Given the description of an element on the screen output the (x, y) to click on. 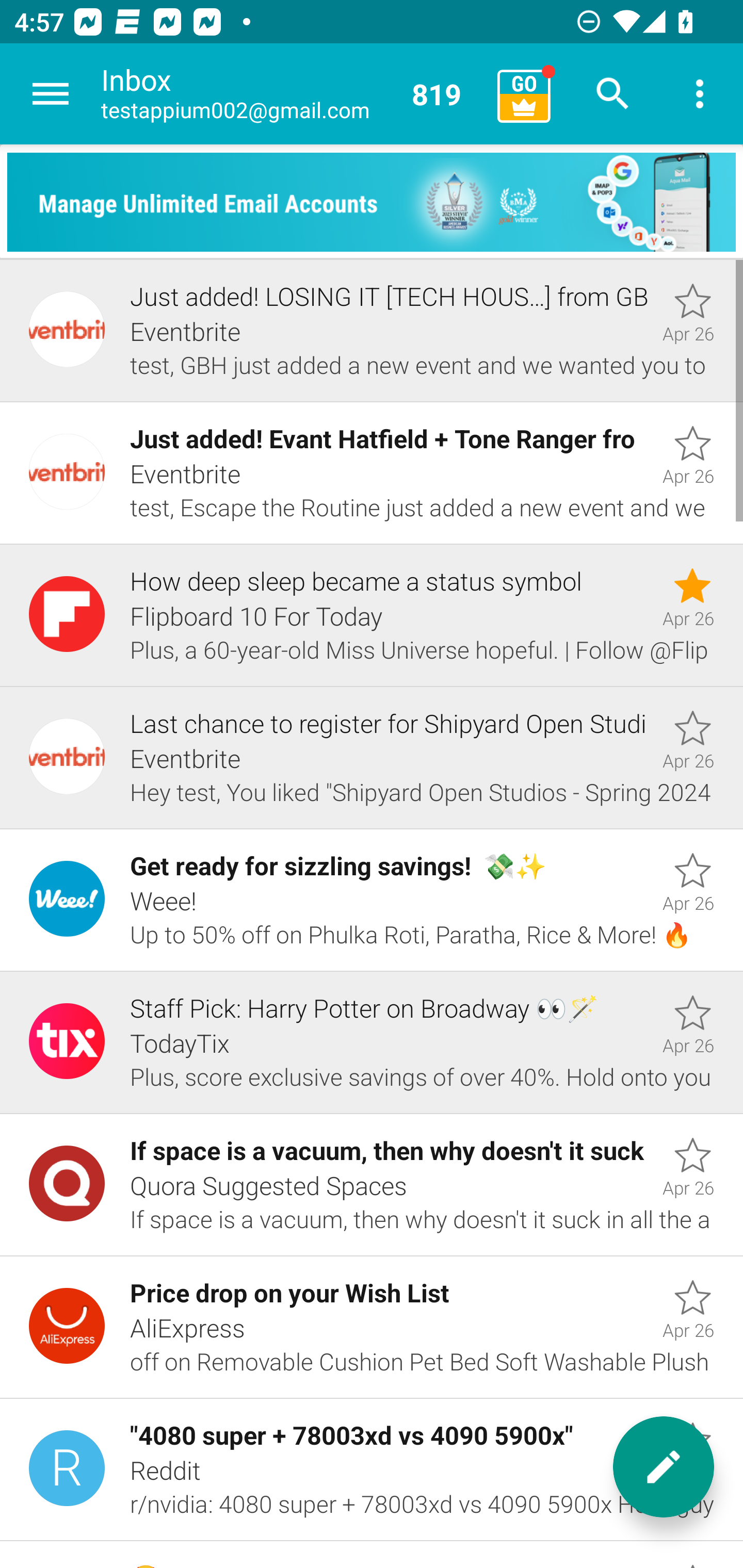
Navigate up (50, 93)
Inbox testappium002@gmail.com 819 (291, 93)
Search (612, 93)
More options (699, 93)
New message (663, 1466)
